Given the description of an element on the screen output the (x, y) to click on. 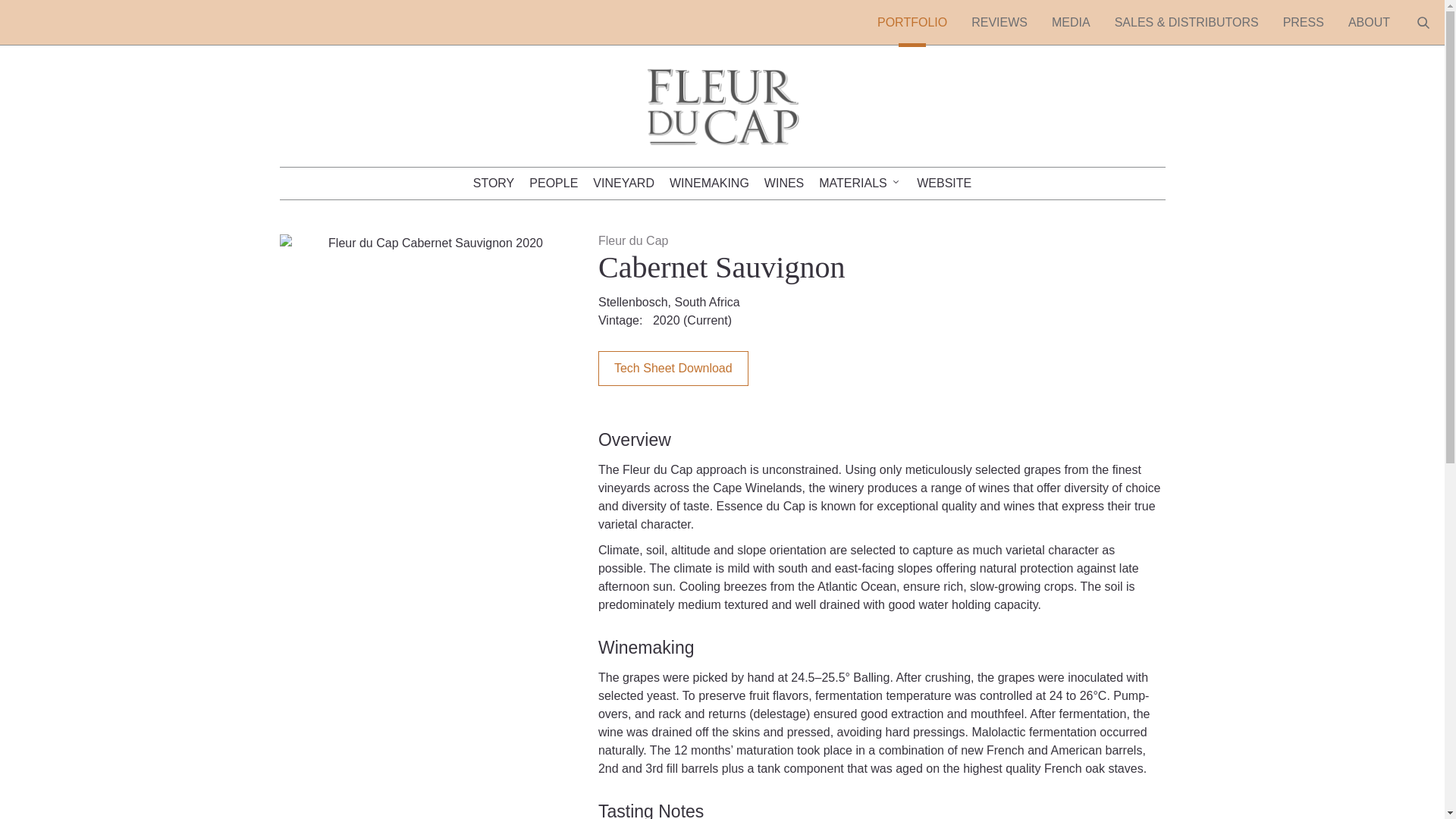
REVIEWS (999, 22)
MEDIA (1070, 22)
WINES (783, 183)
PEOPLE (553, 183)
ABOUT (1369, 22)
WEBSITE (943, 183)
PRESS (1303, 22)
Fleur du Cap (721, 162)
WINEMAKING (709, 183)
PORTFOLIO (911, 22)
